Given the description of an element on the screen output the (x, y) to click on. 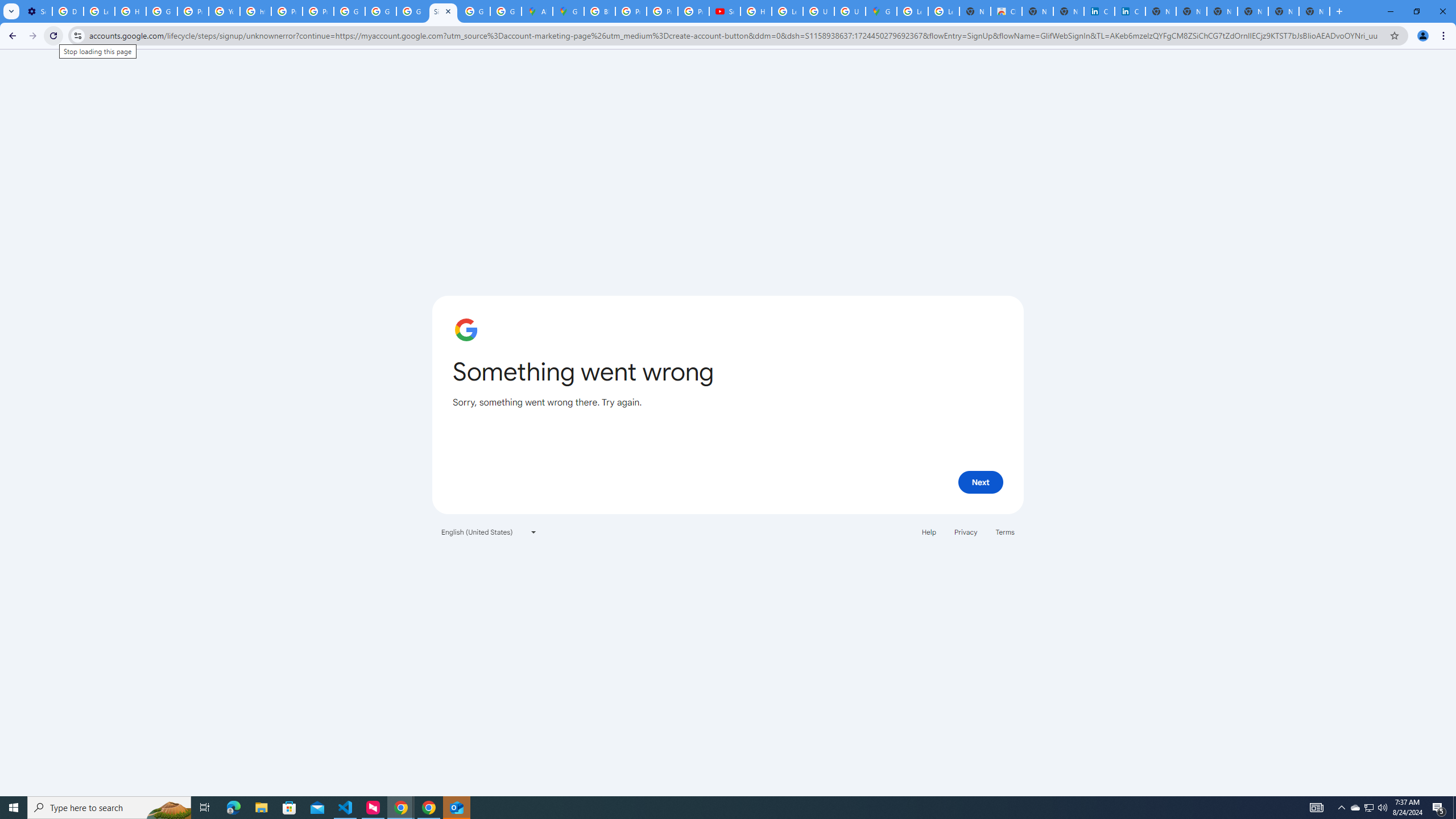
Cookie Policy | LinkedIn (1098, 11)
Privacy Help Center - Policies Help (192, 11)
Subscriptions - YouTube (724, 11)
Privacy Help Center - Policies Help (286, 11)
